Given the description of an element on the screen output the (x, y) to click on. 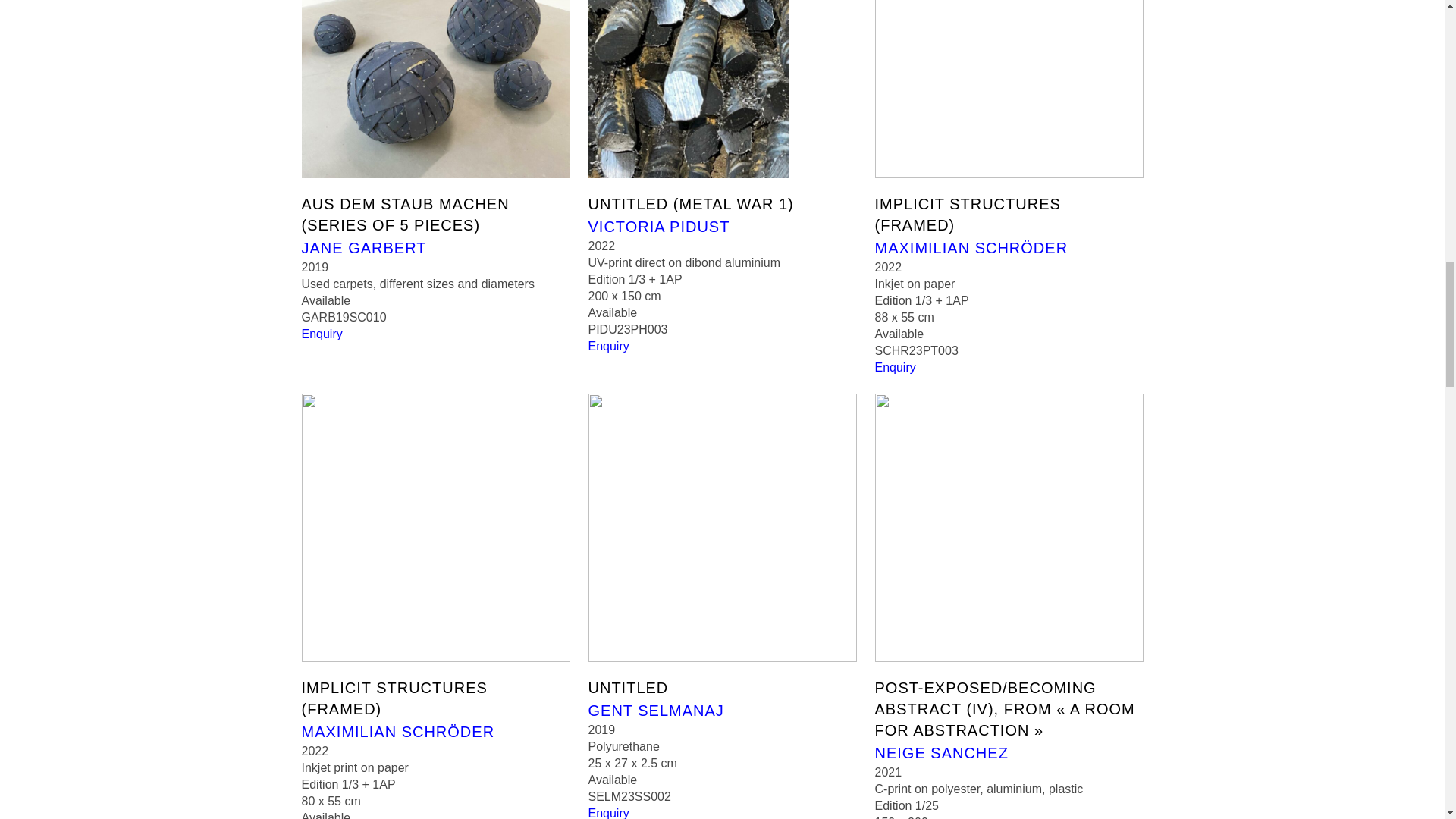
VICTORIA PIDUST (659, 227)
UNTITLED (628, 686)
JANE GARBERT (363, 248)
Enquiry (895, 366)
Enquiry (608, 345)
Enquiry (321, 333)
